Given the description of an element on the screen output the (x, y) to click on. 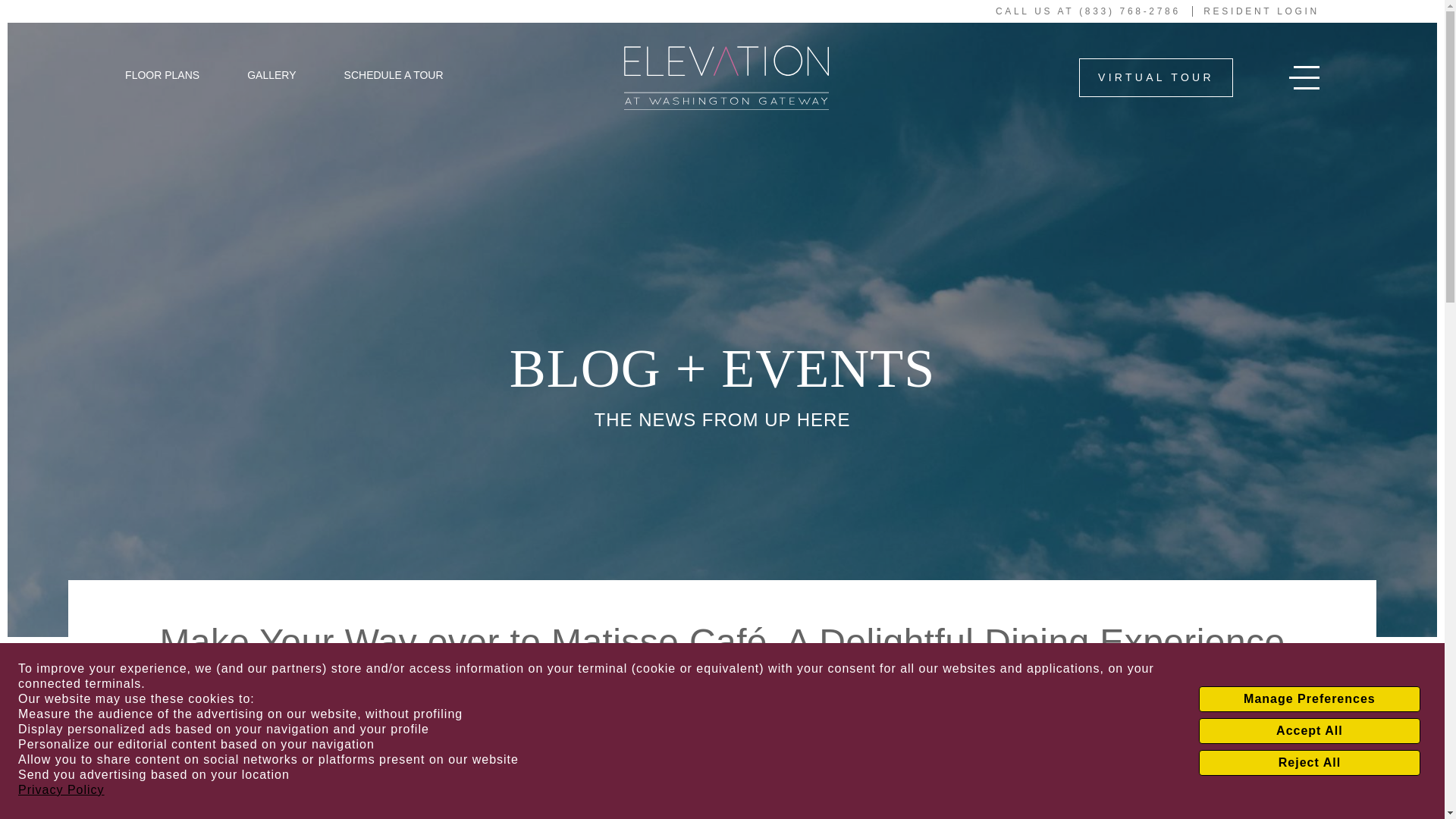
Manage Preferences (1309, 698)
SCHEDULE A TOUR (393, 73)
Reject All (1309, 762)
Accept All (1309, 730)
RESIDENT LOGIN (1261, 10)
FLOOR PLANS (162, 73)
Privacy Policy (60, 789)
VIRTUAL TOUR (1155, 77)
GALLERY (271, 73)
